Given the description of an element on the screen output the (x, y) to click on. 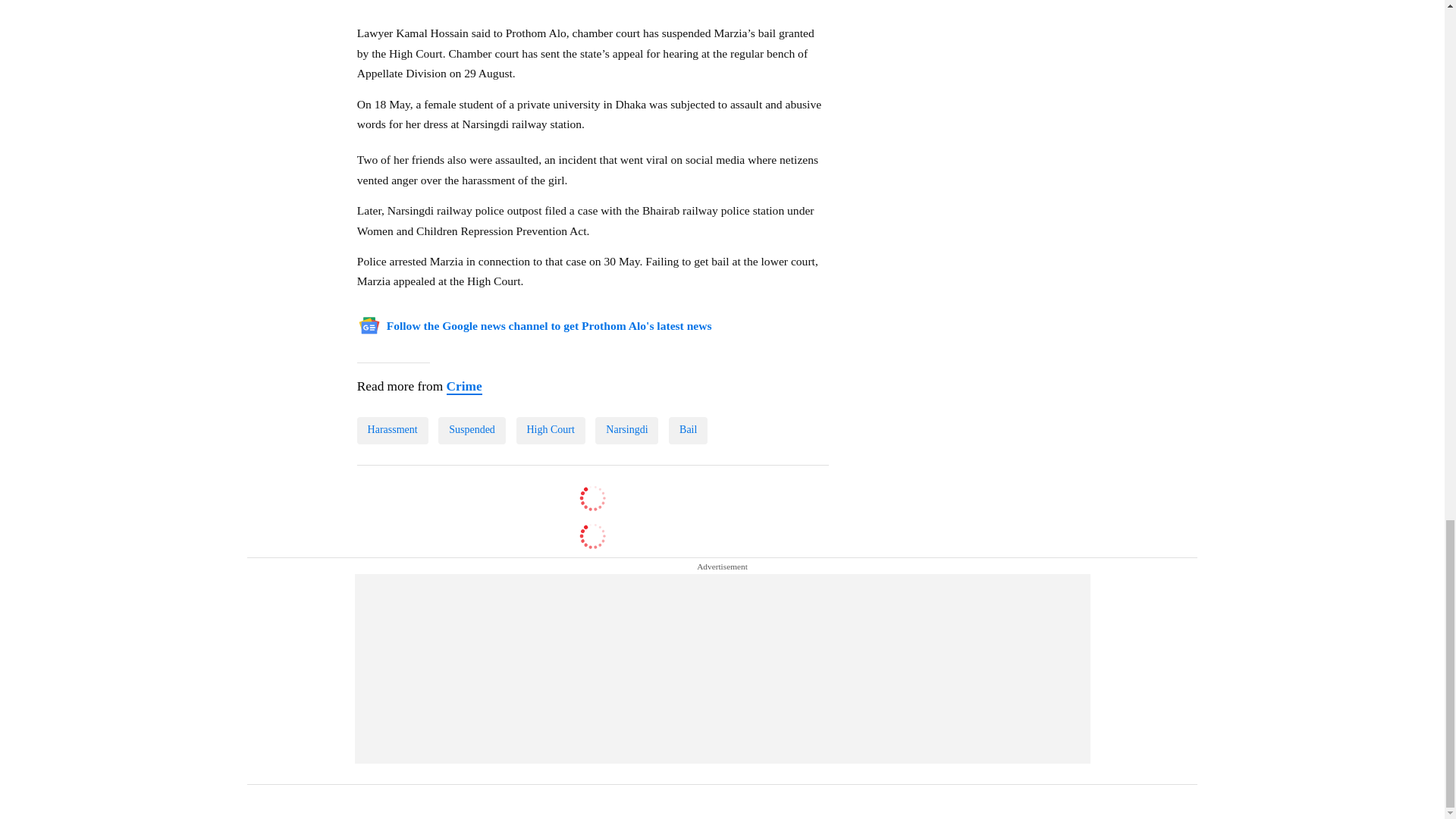
Harassment (392, 430)
Narsingdi (626, 430)
Bail (687, 430)
Crime (463, 386)
High Court (550, 430)
Suspended (471, 430)
